Given the description of an element on the screen output the (x, y) to click on. 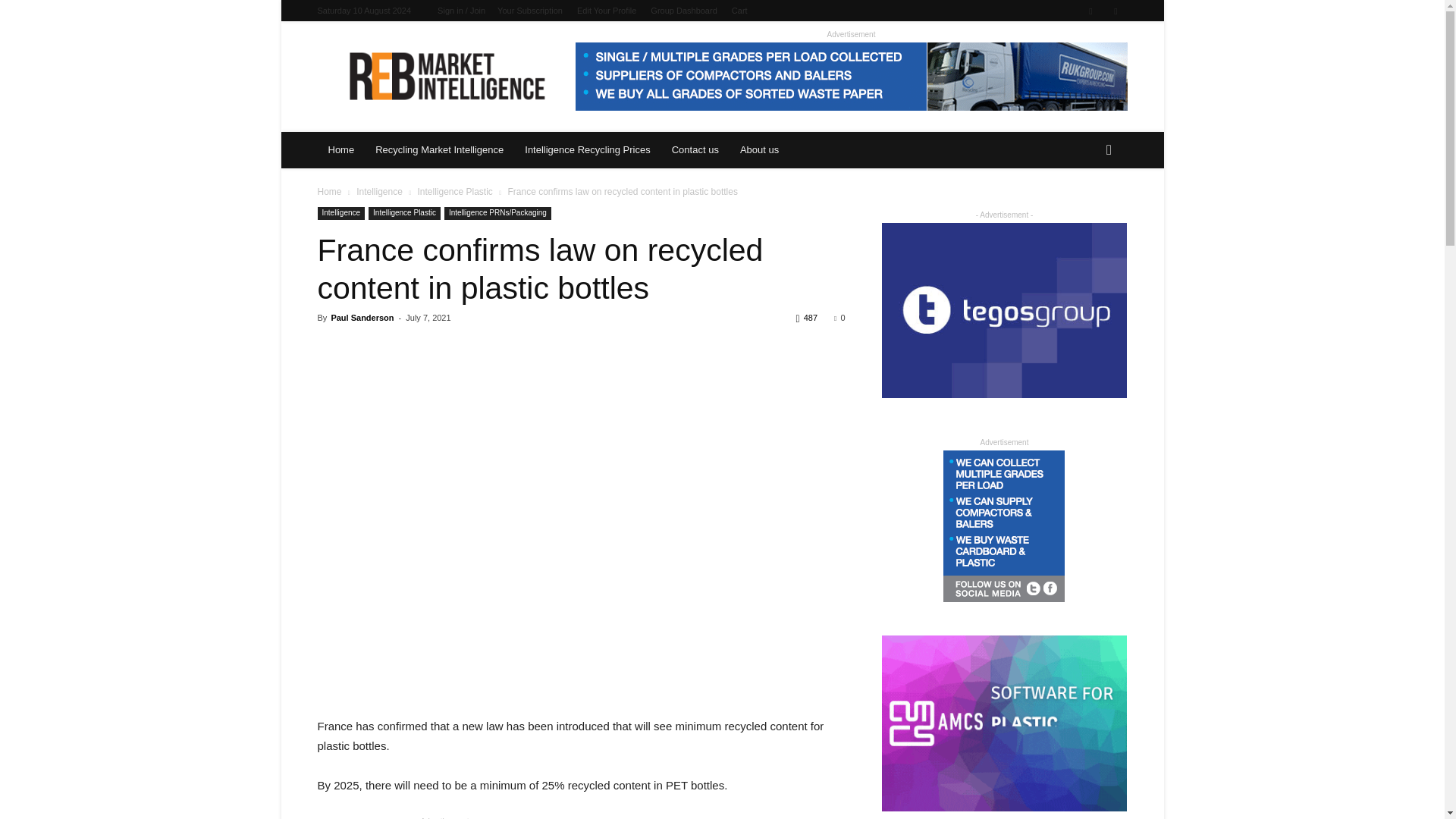
Linkedin (1090, 10)
REB Market Intelligence (445, 76)
Edit Your Profile (606, 10)
Your Subscription (529, 10)
Home (341, 149)
Group Dashboard (683, 10)
Cart (740, 10)
Twitter (1114, 10)
Recycling Market Intelligence (439, 149)
View all posts in Intelligence Plastic (454, 191)
